Given the description of an element on the screen output the (x, y) to click on. 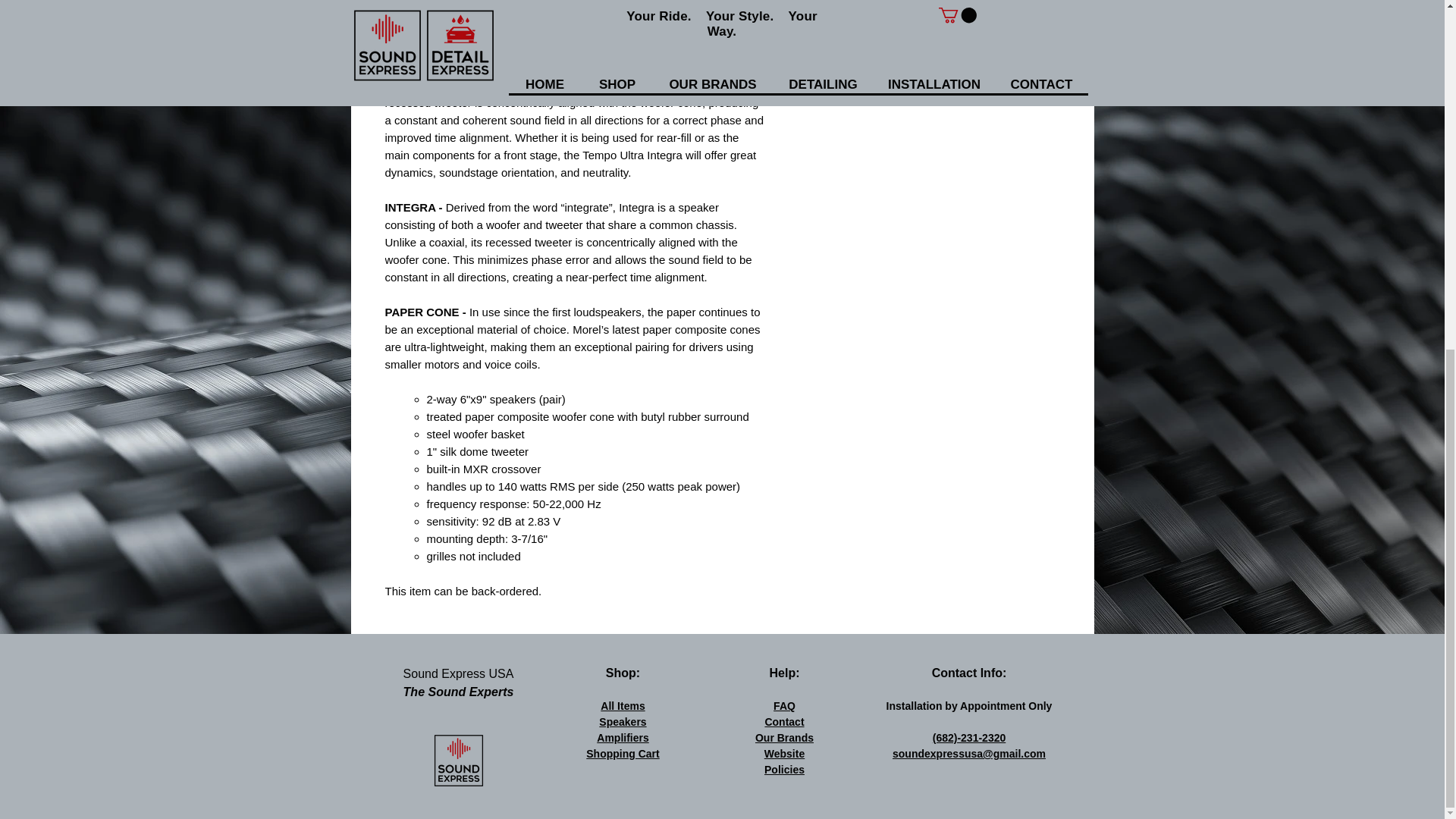
Shopping Cart (622, 753)
Amplifiers (621, 737)
Speakers (622, 721)
Our Brands (784, 737)
Contact (783, 721)
FAQ (783, 705)
Contact Info: (969, 673)
Shop: (622, 673)
Help: (783, 673)
Website Policies (784, 761)
